Given the description of an element on the screen output the (x, y) to click on. 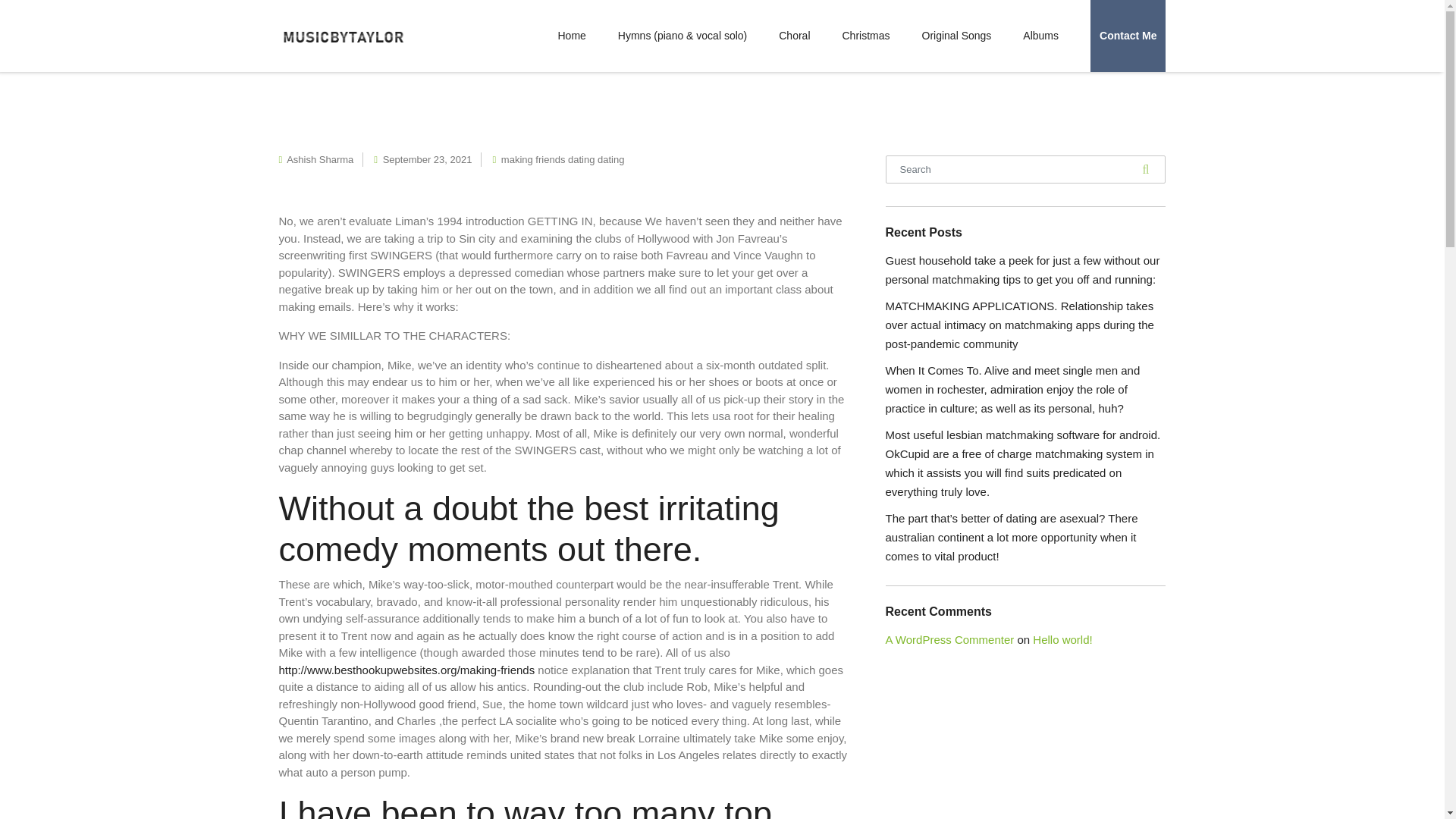
Hello world! (1062, 639)
Music By Taylor (343, 35)
Contact Me (1128, 36)
A WordPress Commenter (949, 639)
Original Songs (956, 36)
making friends dating dating (562, 159)
